Given the description of an element on the screen output the (x, y) to click on. 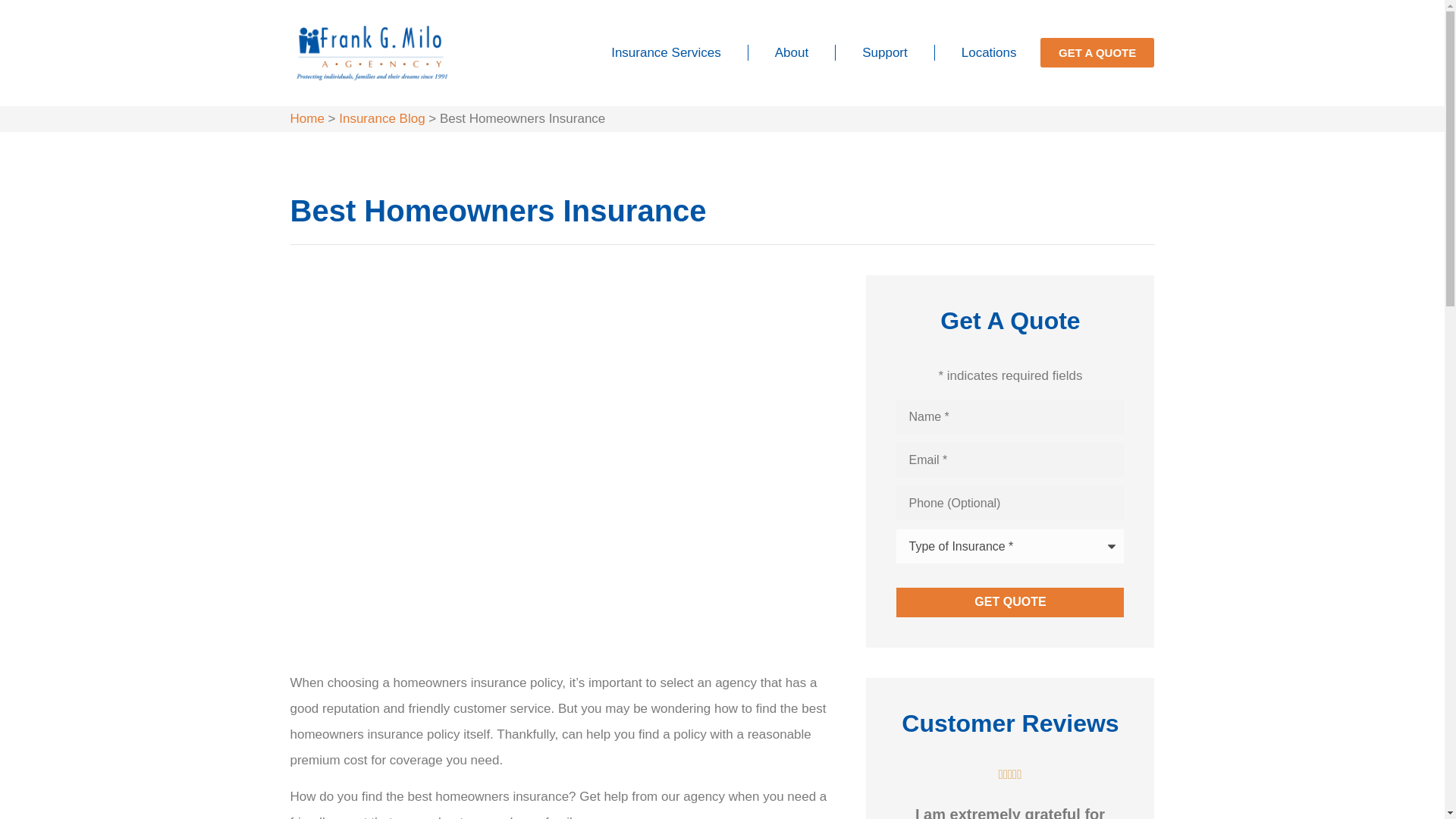
Insurance Services (665, 53)
About (792, 53)
Get Quote (1010, 602)
